Given the description of an element on the screen output the (x, y) to click on. 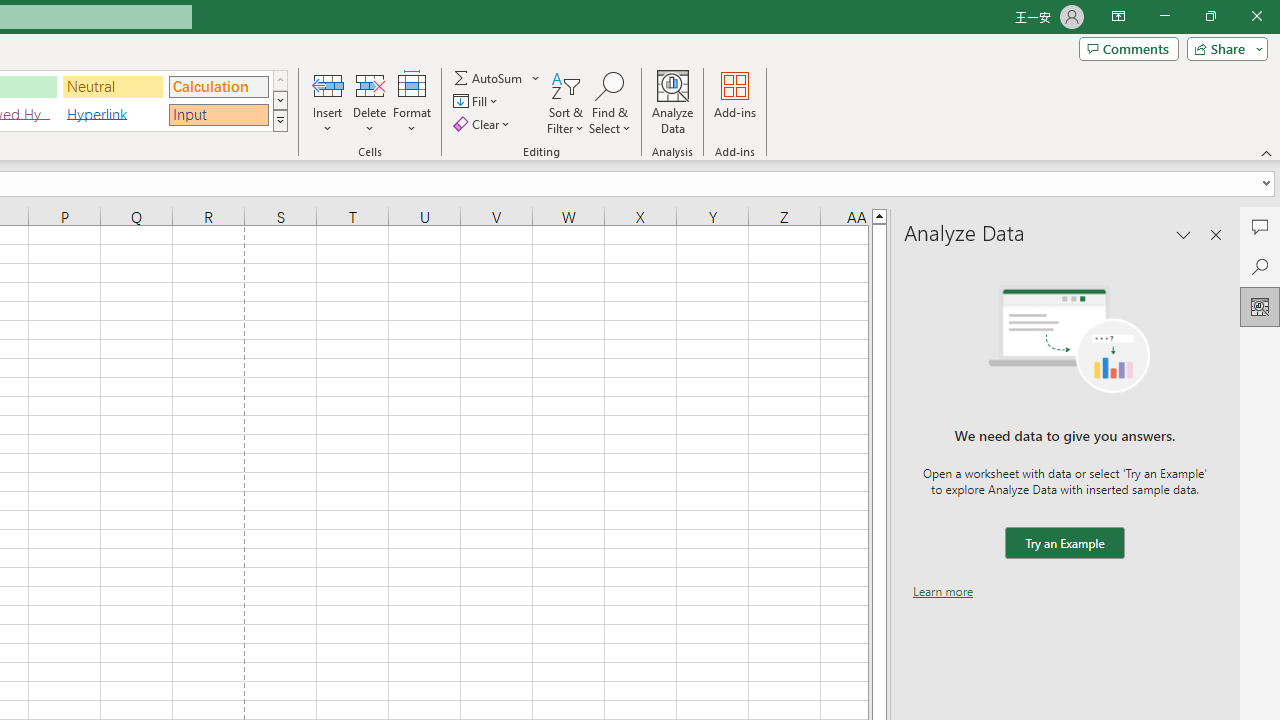
Neutral (113, 86)
Fill (477, 101)
Sum (489, 78)
We need data to give you answers. Try an Example (1064, 543)
Cell Styles (280, 120)
Find & Select (610, 102)
